Given the description of an element on the screen output the (x, y) to click on. 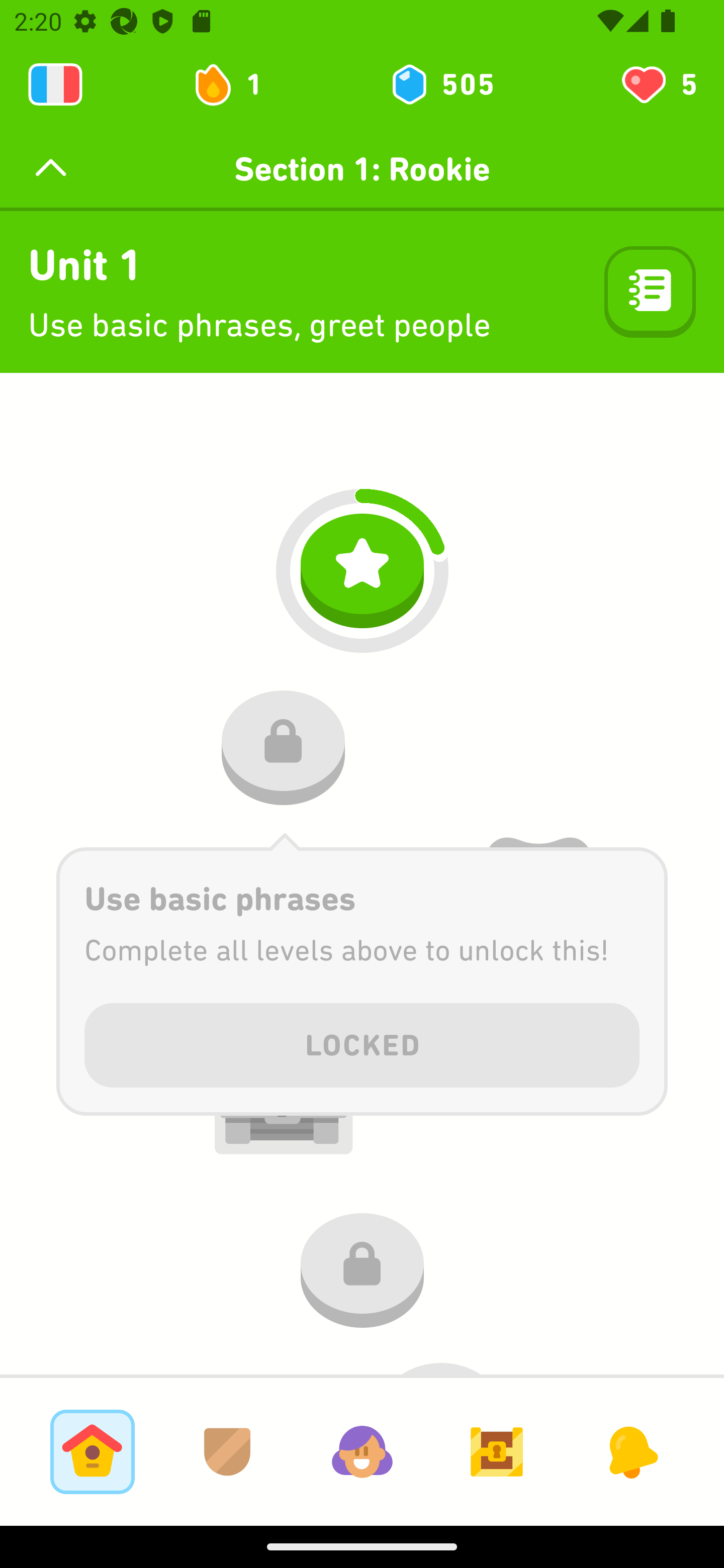
Learning 2131888976 (55, 84)
1 day streak 1 (236, 84)
505 (441, 84)
You have 5 hearts left 5 (657, 84)
Section 1: Rookie (362, 169)
LOCKED (361, 1041)
Learn Tab (91, 1451)
Leagues Tab (227, 1451)
Profile Tab (361, 1451)
Goals Tab (496, 1451)
News Tab (631, 1451)
